Given the description of an element on the screen output the (x, y) to click on. 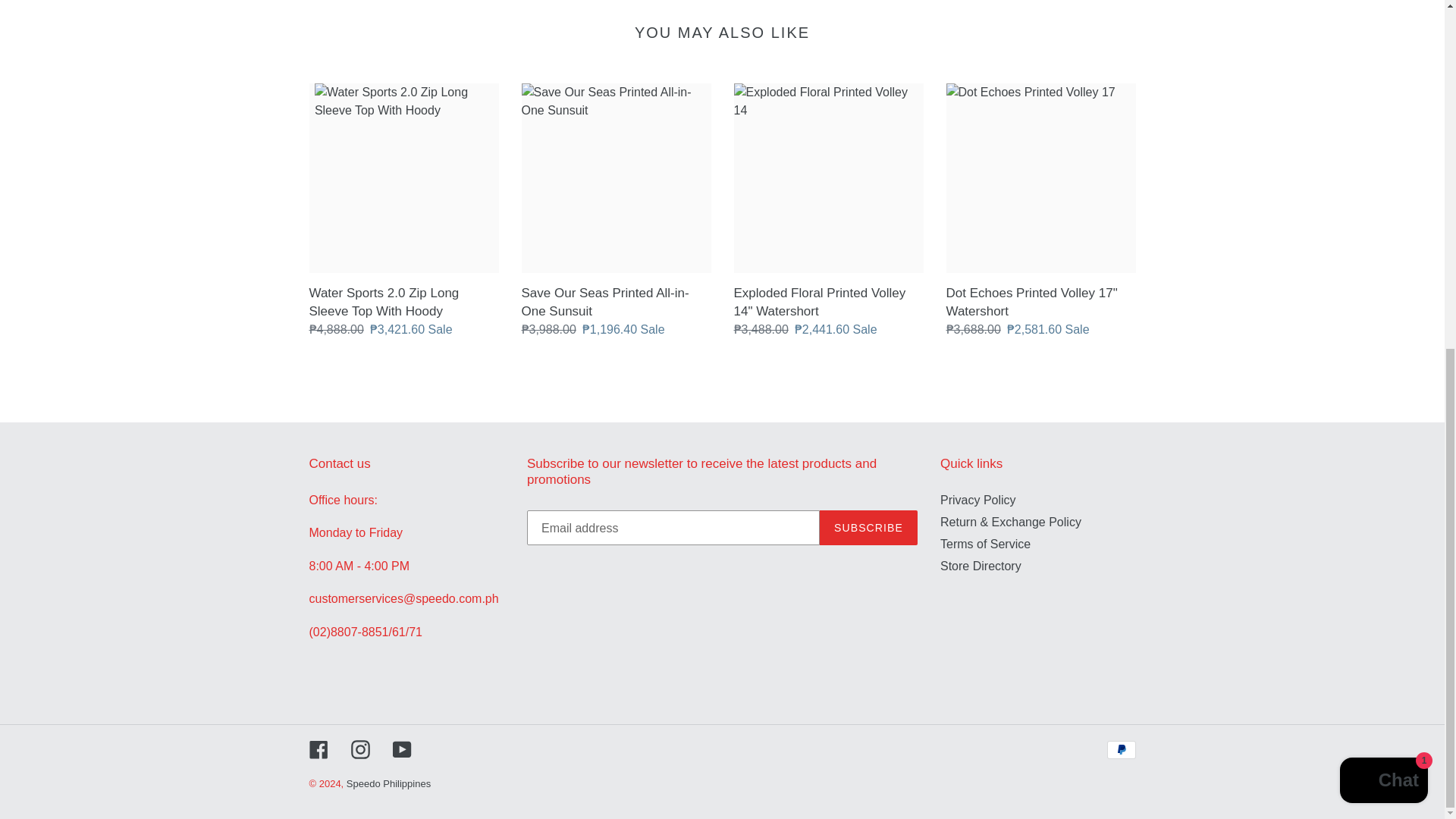
Shopify online store chat (1383, 179)
